Given the description of an element on the screen output the (x, y) to click on. 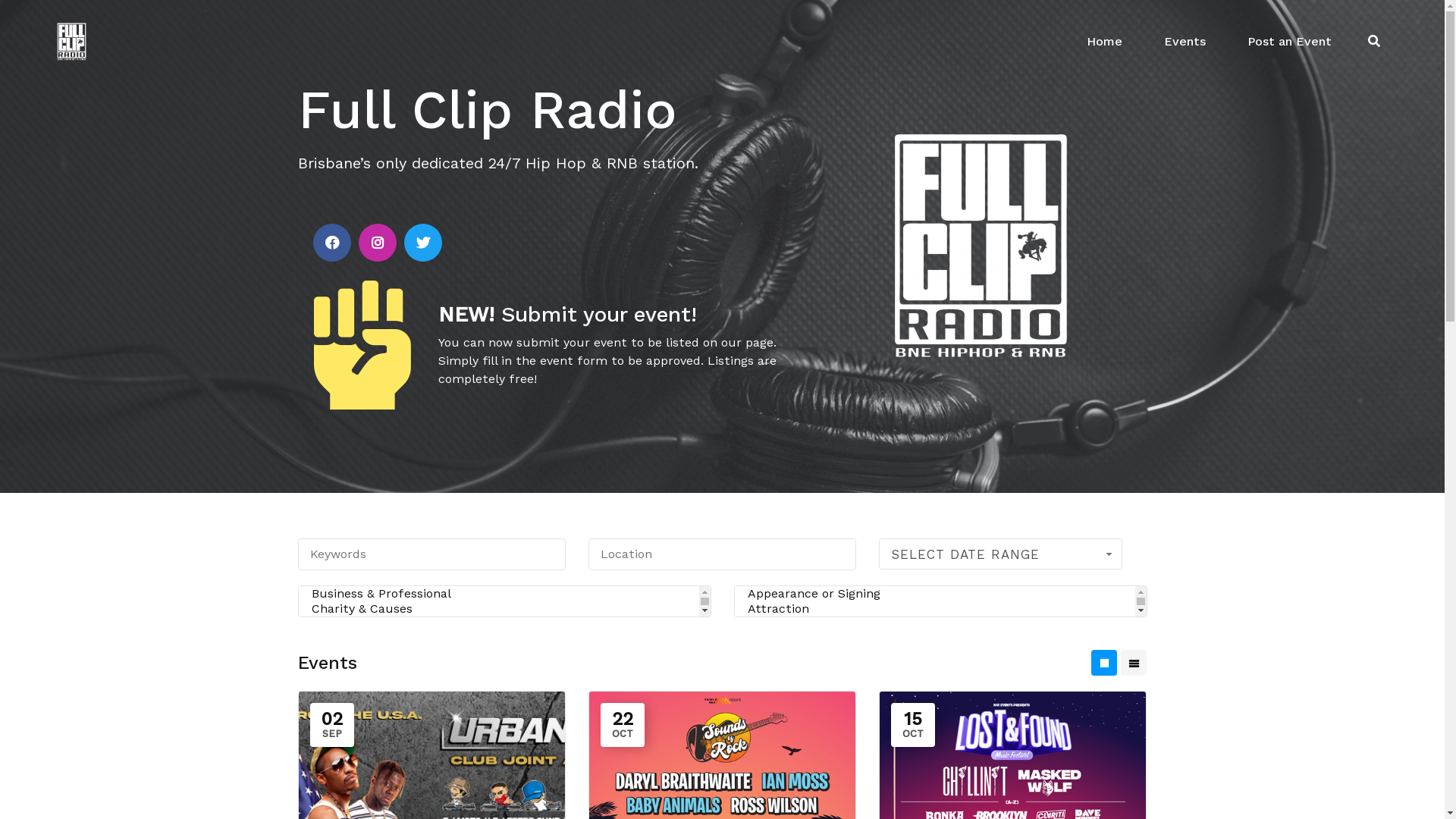
Post an Event Element type: text (1289, 41)
Events Element type: text (1184, 41)
NEW! Submit your event! Element type: text (567, 313)
Home Element type: text (1104, 41)
SELECT DATE RANGE Element type: text (1000, 553)
Events Box View Element type: hover (1104, 662)
Events List View Element type: hover (1133, 662)
